Given the description of an element on the screen output the (x, y) to click on. 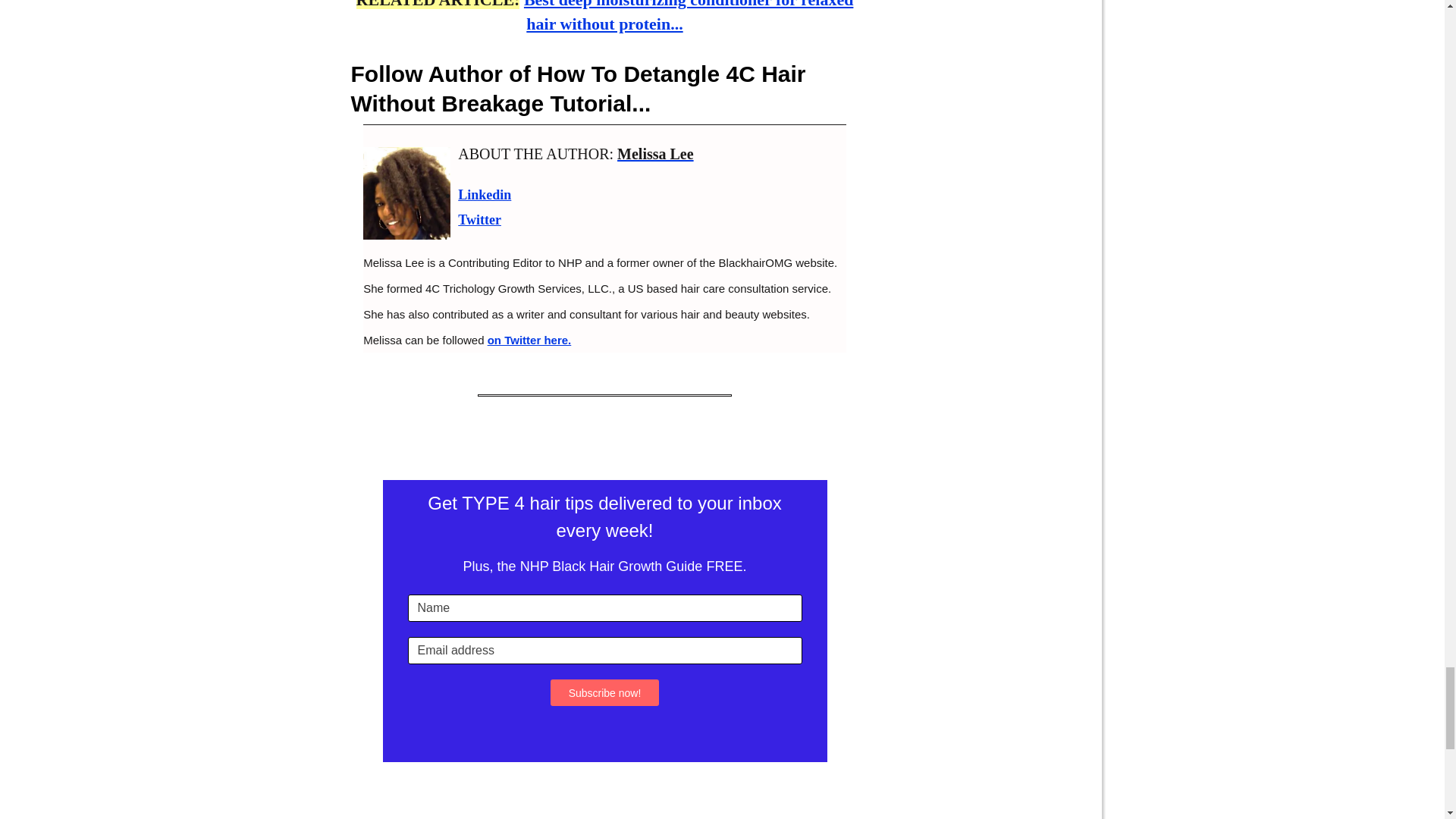
Name (604, 607)
Subscribe now! (604, 692)
on Twitter here. (529, 339)
Melissa Lee (655, 153)
Email address (604, 650)
Subscribe now! (604, 692)
Twitter (479, 219)
Linkedin (484, 194)
